Given the description of an element on the screen output the (x, y) to click on. 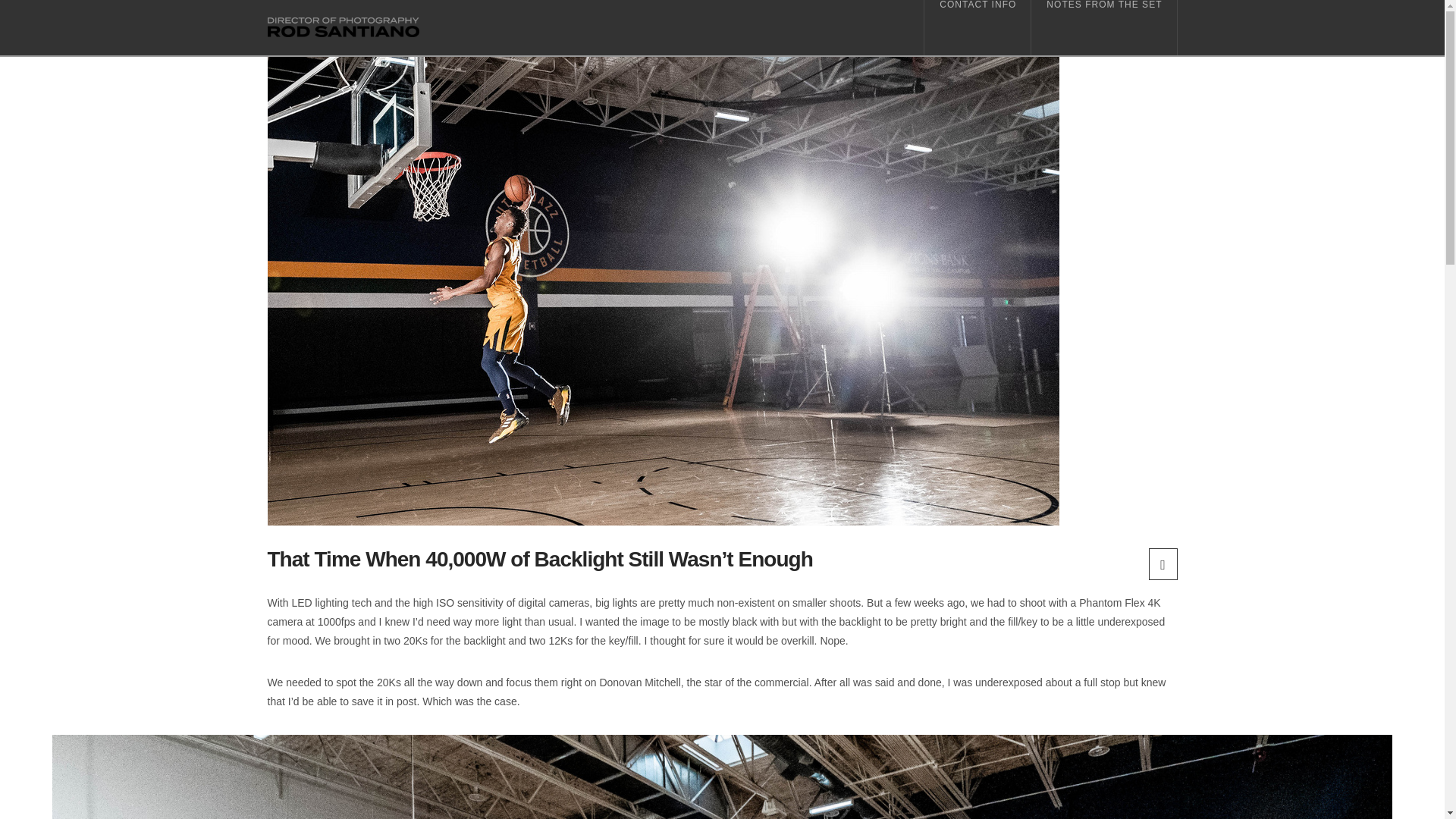
CONTACT INFO (976, 27)
NOTES FROM THE SET (1103, 27)
